Given the description of an element on the screen output the (x, y) to click on. 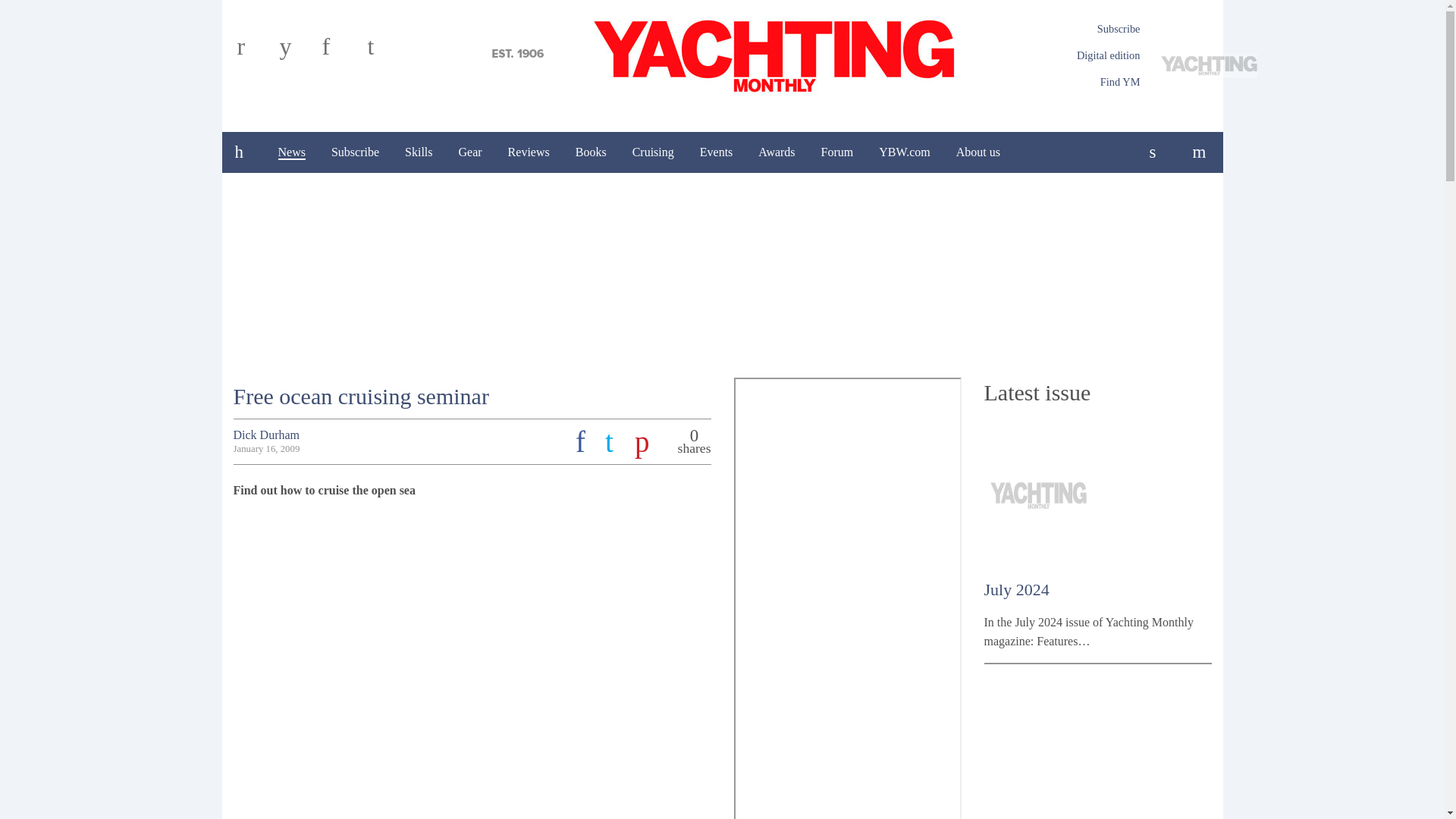
Reviews (528, 151)
r (254, 52)
Subscribe (354, 151)
Subscribe (1118, 28)
f (339, 52)
y (297, 52)
Cruising (653, 151)
Yachting Monthly (722, 53)
Yachting Monthly (722, 53)
t (384, 52)
Events (716, 151)
Gear (470, 151)
Find YM (1120, 81)
Awards (776, 151)
Digital edition (1108, 55)
